Given the description of an element on the screen output the (x, y) to click on. 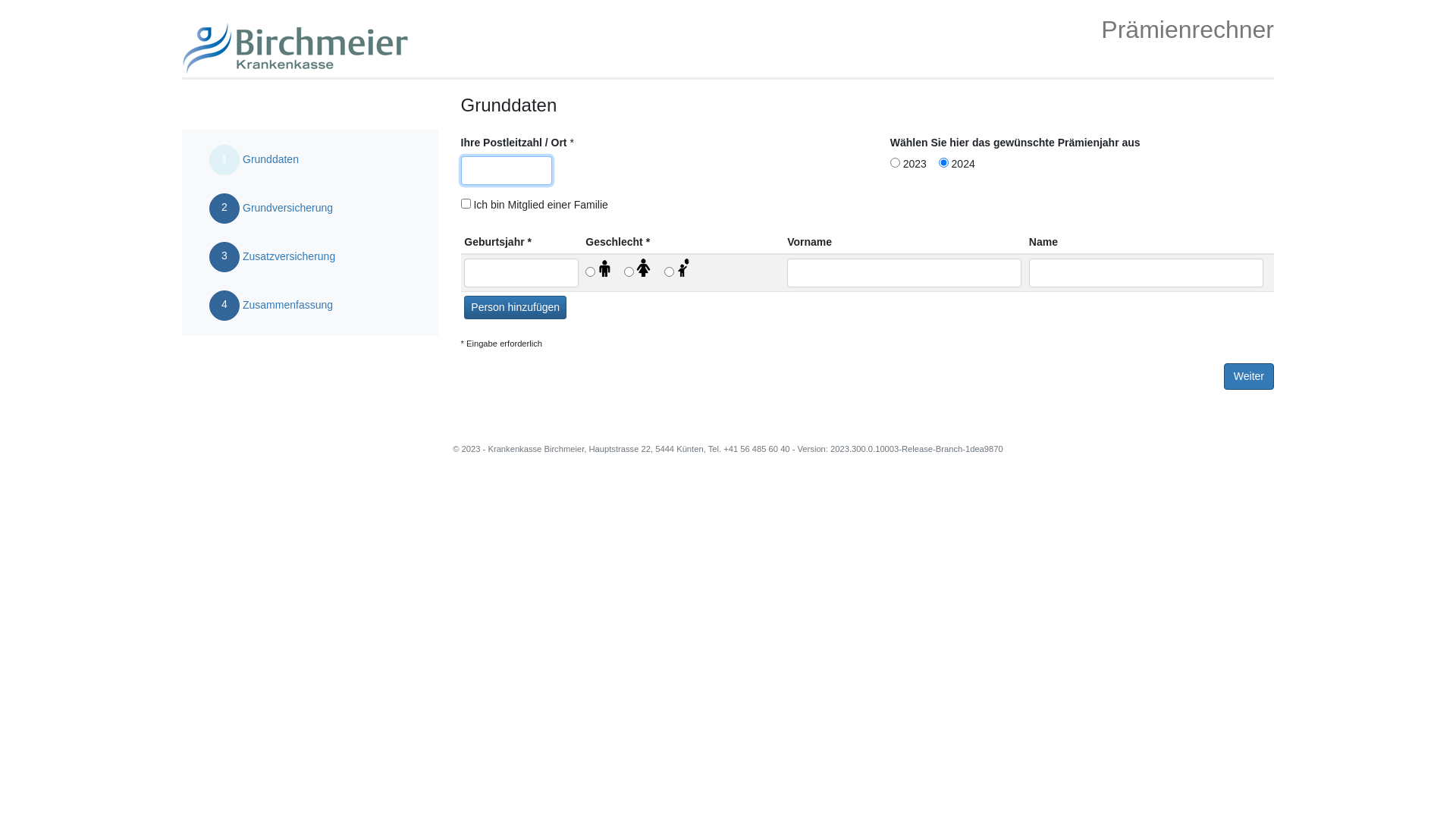
2Grundversicherung Element type: text (270, 208)
1Grunddaten Element type: text (270, 159)
weiblich Element type: hover (638, 269)
ungeborenes Kind Element type: hover (678, 269)
Weiter Element type: text (1248, 376)
4Zusammenfassung Element type: text (270, 305)
3Zusatzversicherung Element type: text (270, 256)
